Given the description of an element on the screen output the (x, y) to click on. 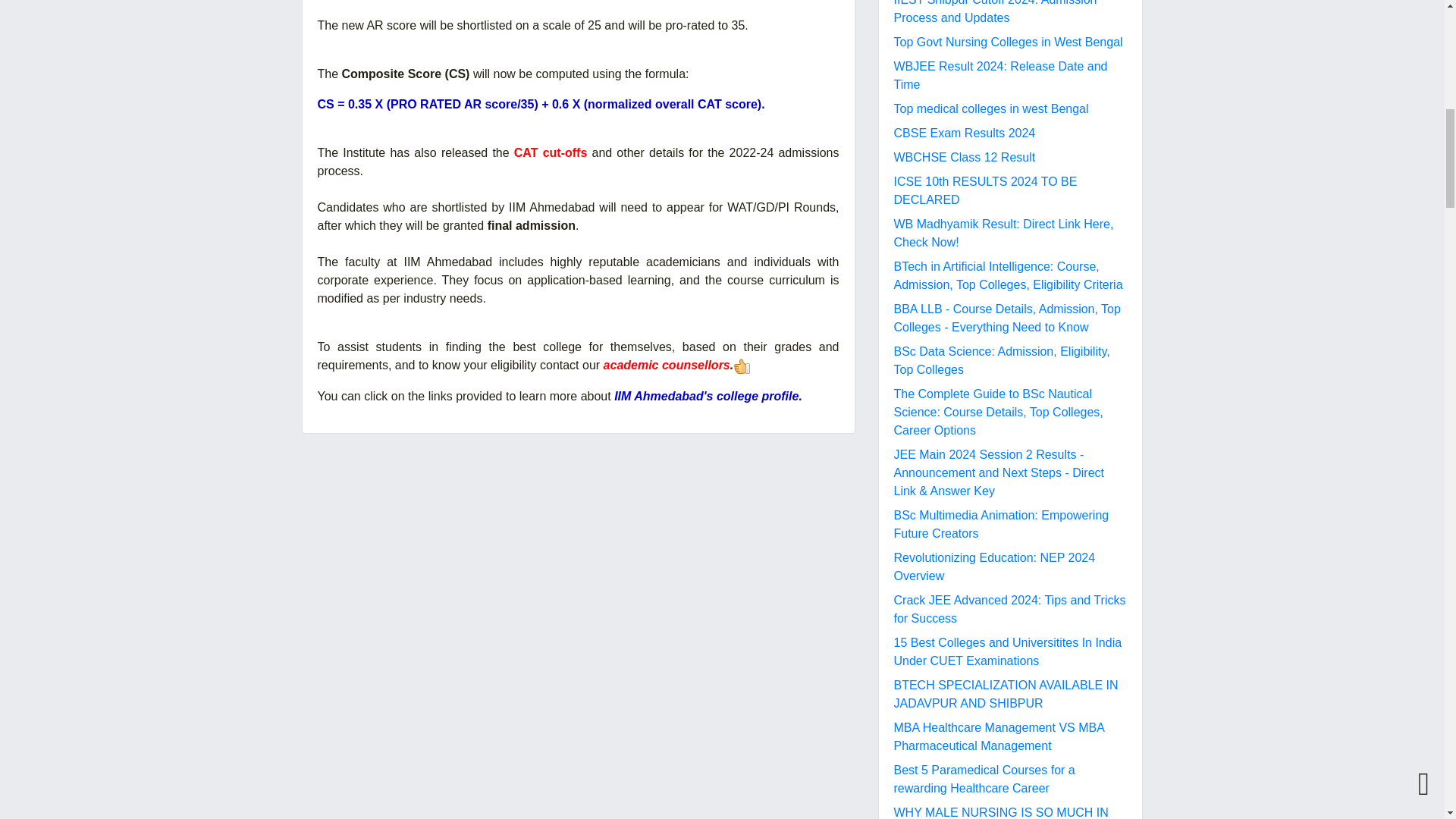
WBJEE Result 2024: Release Date and Time (999, 74)
IIM Ahmedabad's college profile. (708, 395)
IIEST Shibpur Cutoff 2024: Admission Process and Updates (994, 12)
yes (742, 366)
academic counsellors (667, 364)
Top medical colleges in west Bengal (990, 108)
WBCHSE Class 12 Result (964, 156)
ICSE 10th RESULTS 2024 TO BE DECLARED (985, 190)
WB Madhyamik Result: Direct Link Here, Check Now! (1003, 232)
Top Govt Nursing Colleges in West Bengal (1007, 42)
CBSE Exam Results 2024 (964, 132)
